Given the description of an element on the screen output the (x, y) to click on. 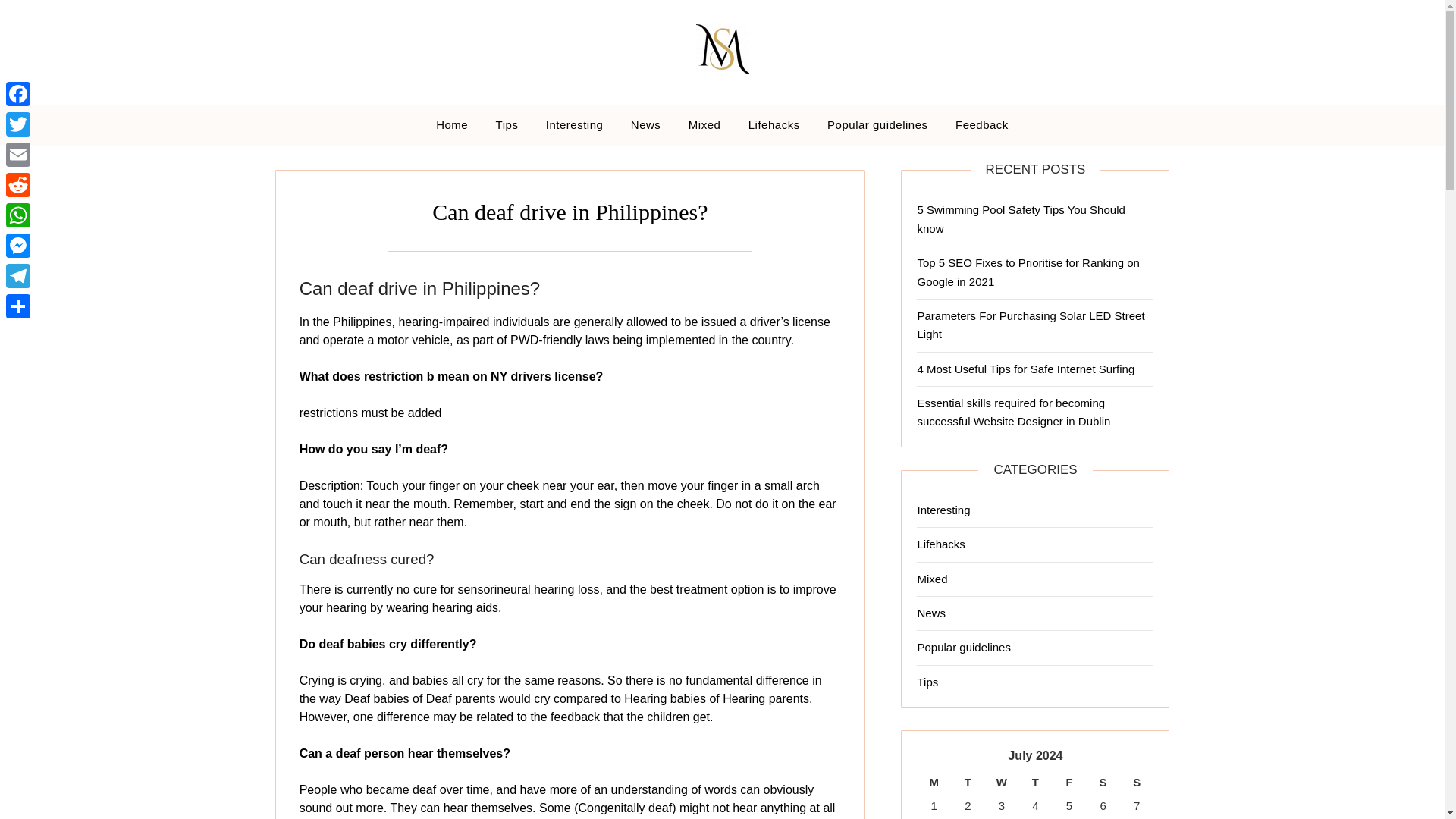
Facebook (17, 93)
Popular guidelines (877, 124)
Mixed (705, 124)
Tips (927, 681)
Wednesday (1002, 782)
WhatsApp (17, 214)
Thursday (1034, 782)
Top 5 SEO Fixes to Prioritise for Ranking on Google in 2021 (1027, 271)
Reddit (17, 184)
Popular guidelines (963, 646)
4 Most Useful Tips for Safe Internet Surfing (1025, 368)
Reddit (17, 184)
Home (451, 124)
News (930, 612)
News (645, 124)
